Given the description of an element on the screen output the (x, y) to click on. 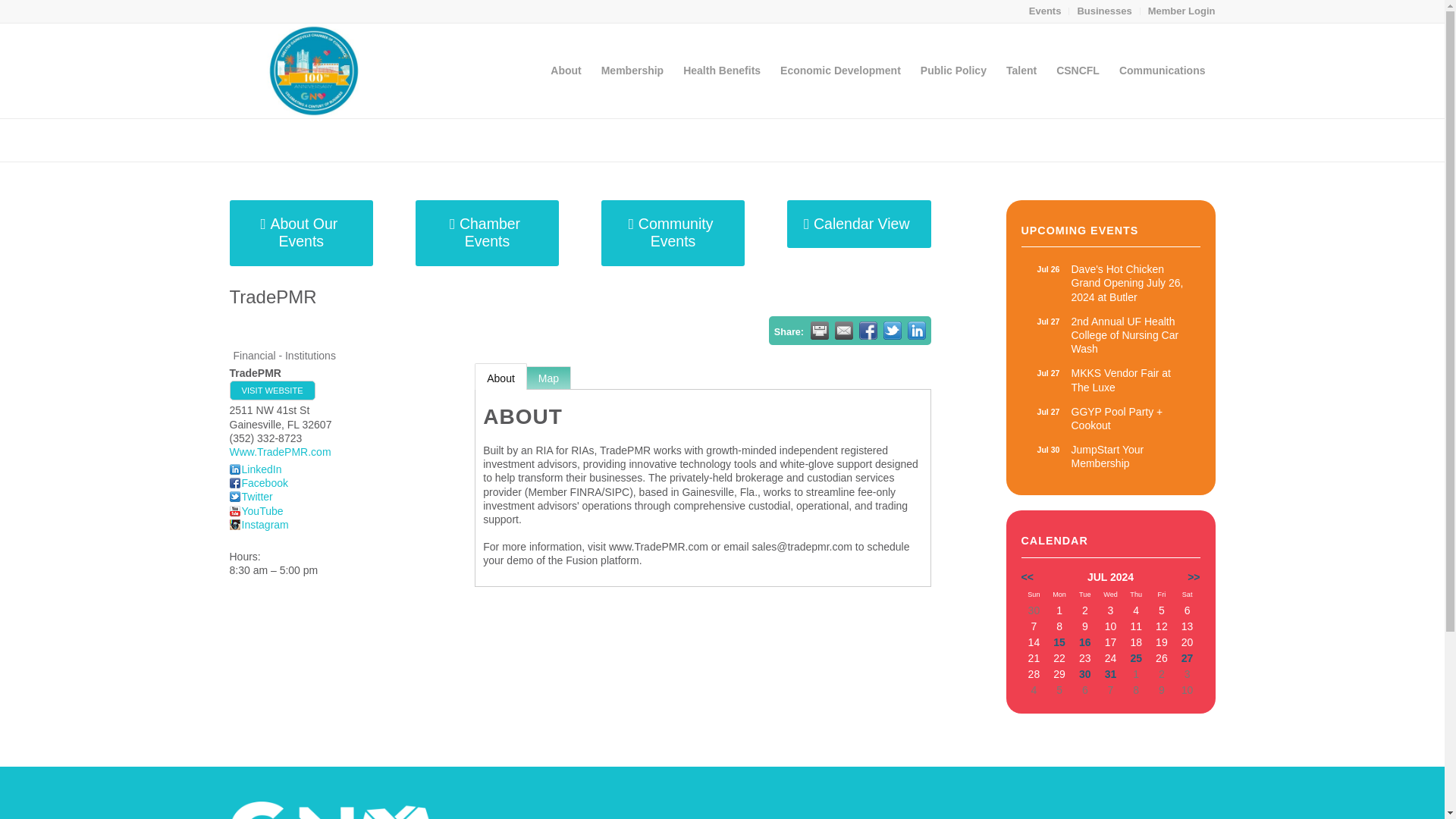
Jul 27 (1048, 373)
Greater Gainesville Chamber of Commerce (1121, 139)
Visit the website of TradePMR (271, 390)
Share on Facebook (868, 330)
Visit TradePMR at YouTube (255, 510)
Permanent Link: MicroNet Template (1109, 335)
Health Benefits (279, 138)
Member Login (1109, 456)
Businesses (721, 70)
MKKS Vendor Fair at The Luxe (1181, 11)
Economic Development (1104, 11)
Share on LinkedIn (1109, 379)
Dave's Hot Chicken Grand Opening July 26, 2024 at Butler (840, 70)
